Given the description of an element on the screen output the (x, y) to click on. 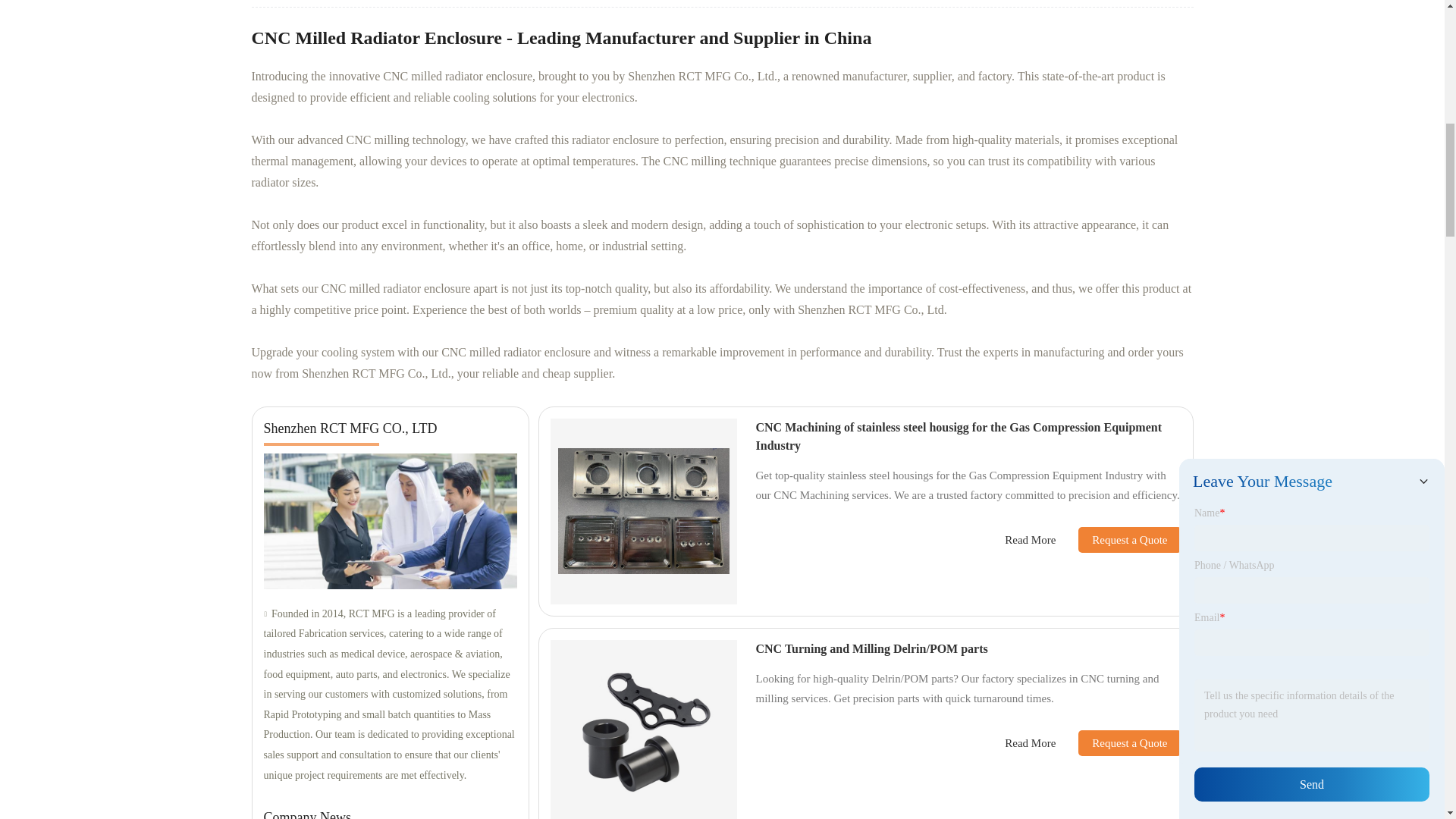
Read More (1029, 539)
Request a Quote (1117, 539)
Request a Quote (1117, 742)
Read More (1029, 743)
